Given the description of an element on the screen output the (x, y) to click on. 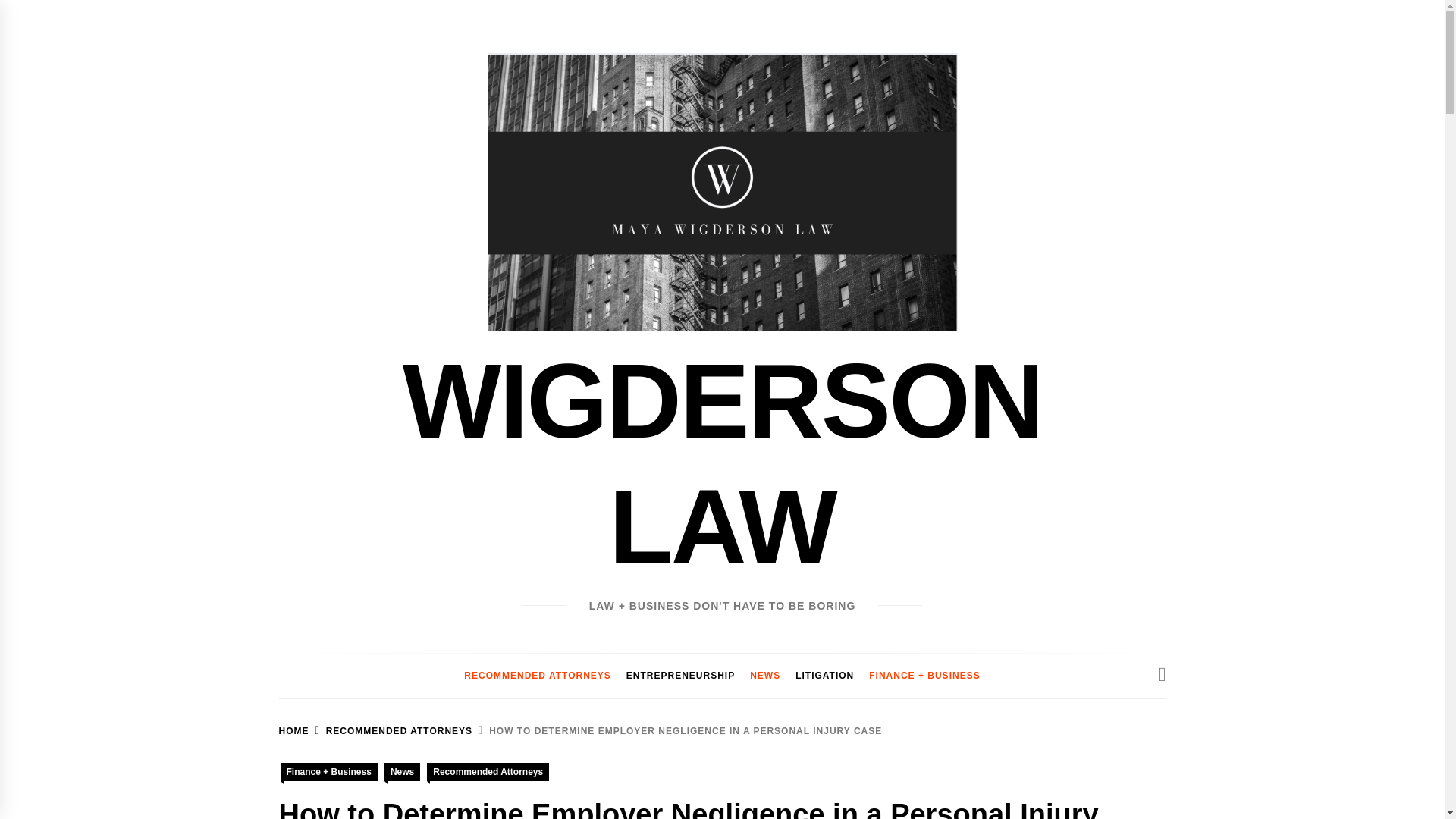
LITIGATION (824, 675)
Recommended Attorneys (487, 771)
ENTREPRENEURSHIP (680, 675)
NEWS (764, 675)
HOME (293, 730)
News (402, 771)
RECOMMENDED ATTORNEYS (390, 730)
RECOMMENDED ATTORNEYS (537, 675)
